Given the description of an element on the screen output the (x, y) to click on. 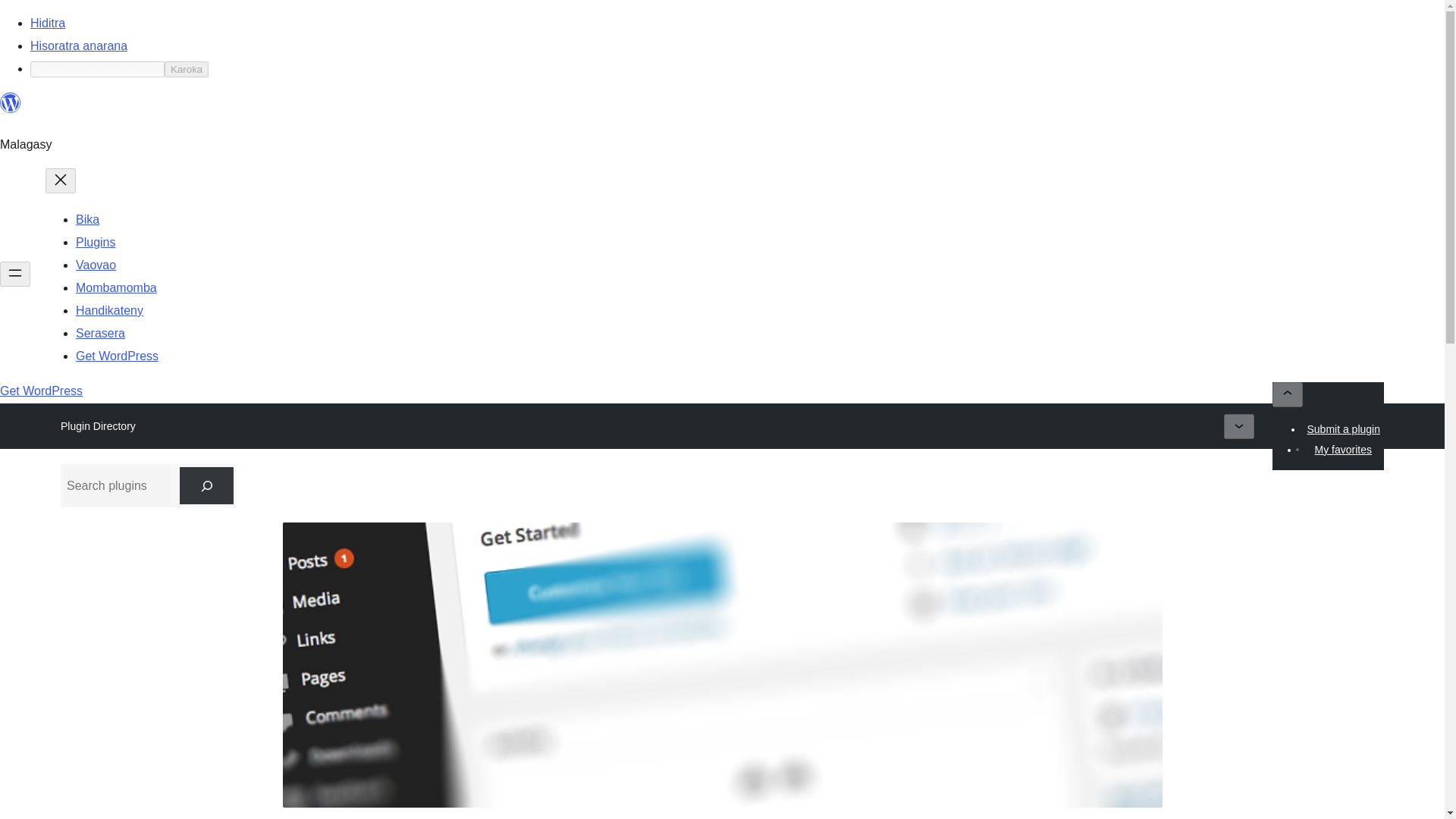
Get WordPress (116, 355)
Bika (87, 219)
Karoka (186, 68)
Karoka (186, 68)
Handikateny (108, 309)
Hiditra (47, 22)
Submit a plugin (1343, 428)
Mombamomba (116, 287)
WordPress.org (10, 109)
My favorites (1342, 449)
Serasera (100, 332)
Plugins (95, 241)
Plugin Directory (97, 425)
Vaovao (95, 264)
Hisoratra anarana (79, 45)
